Given the description of an element on the screen output the (x, y) to click on. 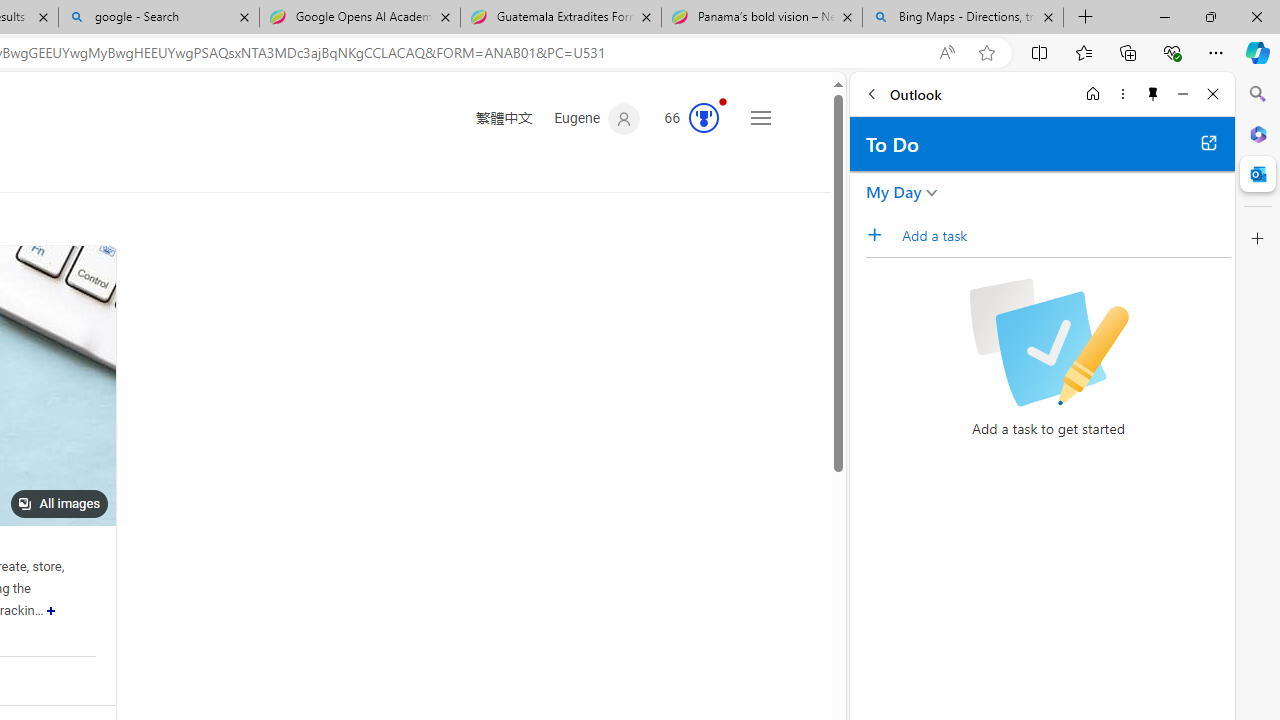
All images (59, 503)
Show more (51, 610)
Google Opens AI Academy for Startups - Nearshore Americas (359, 17)
Eugene (597, 119)
Animation (723, 101)
Checkbox with a pencil (1047, 342)
